Given the description of an element on the screen output the (x, y) to click on. 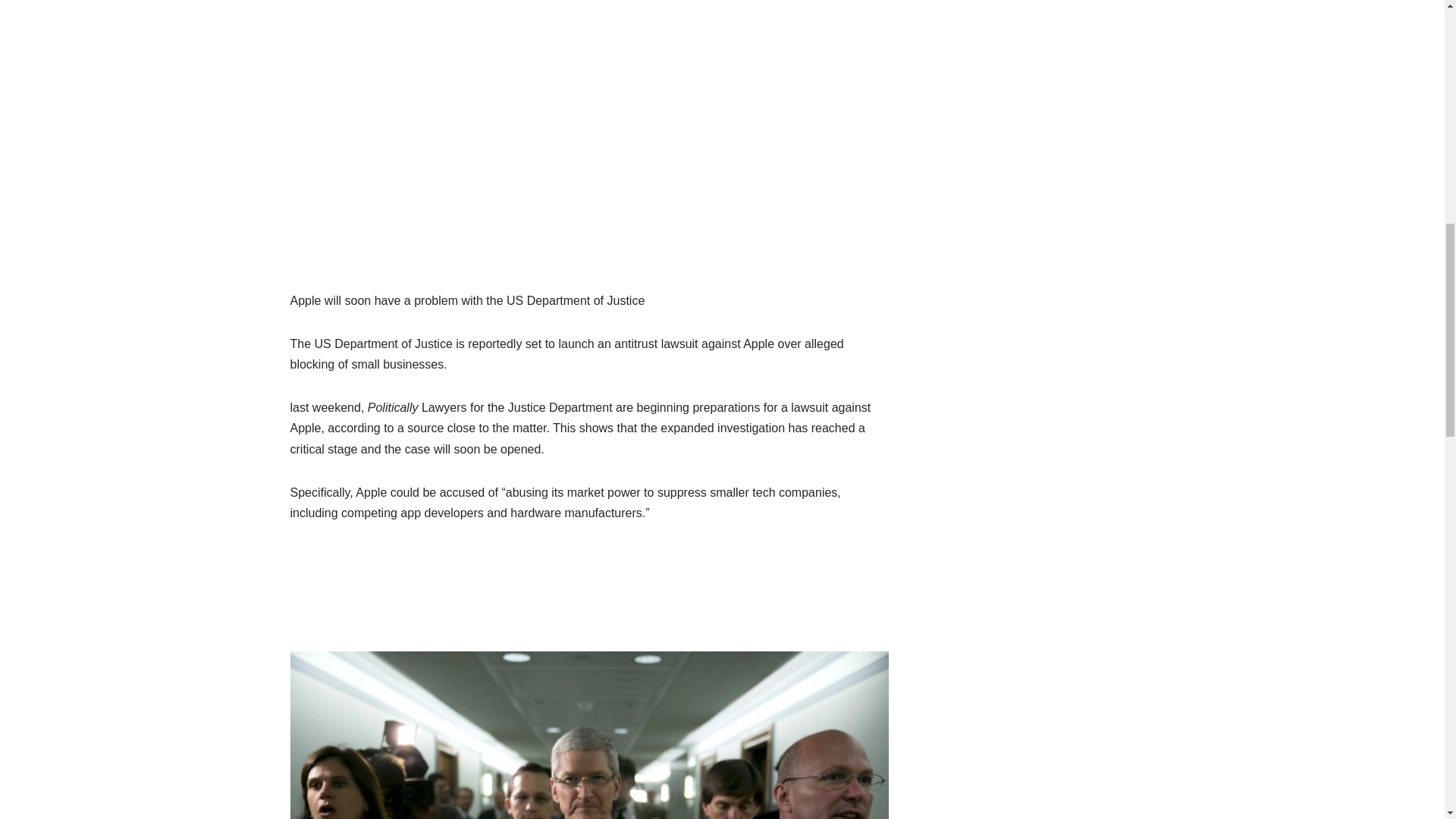
Advertisement (589, 138)
